Given the description of an element on the screen output the (x, y) to click on. 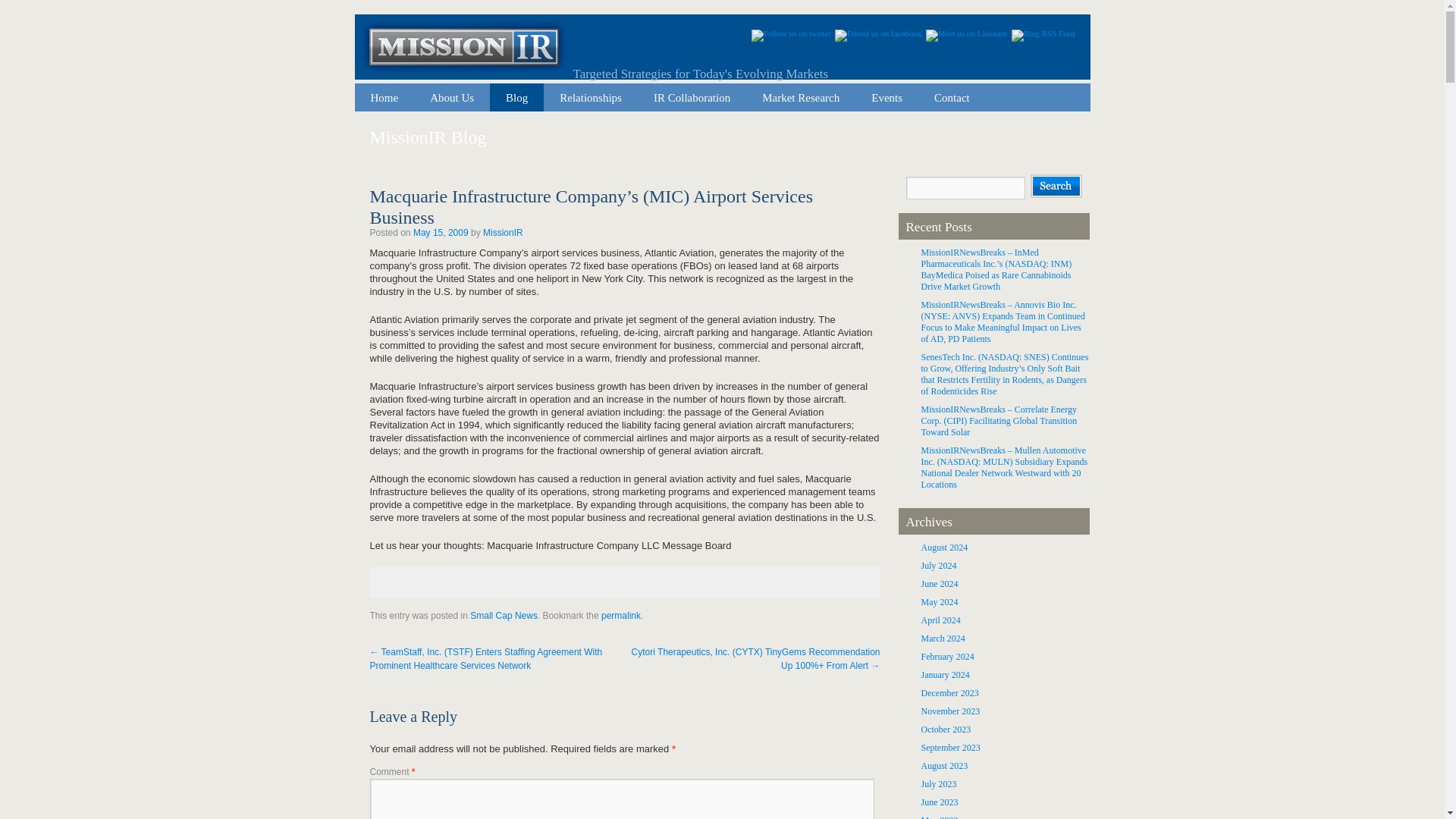
January 2024 (944, 674)
April 2024 (939, 620)
Small Cap News (503, 615)
December 2023 (949, 692)
September 2023 (949, 747)
Home (384, 97)
About Us (451, 97)
3:16 pm (440, 232)
Contact (952, 97)
Blog (516, 97)
